Given the description of an element on the screen output the (x, y) to click on. 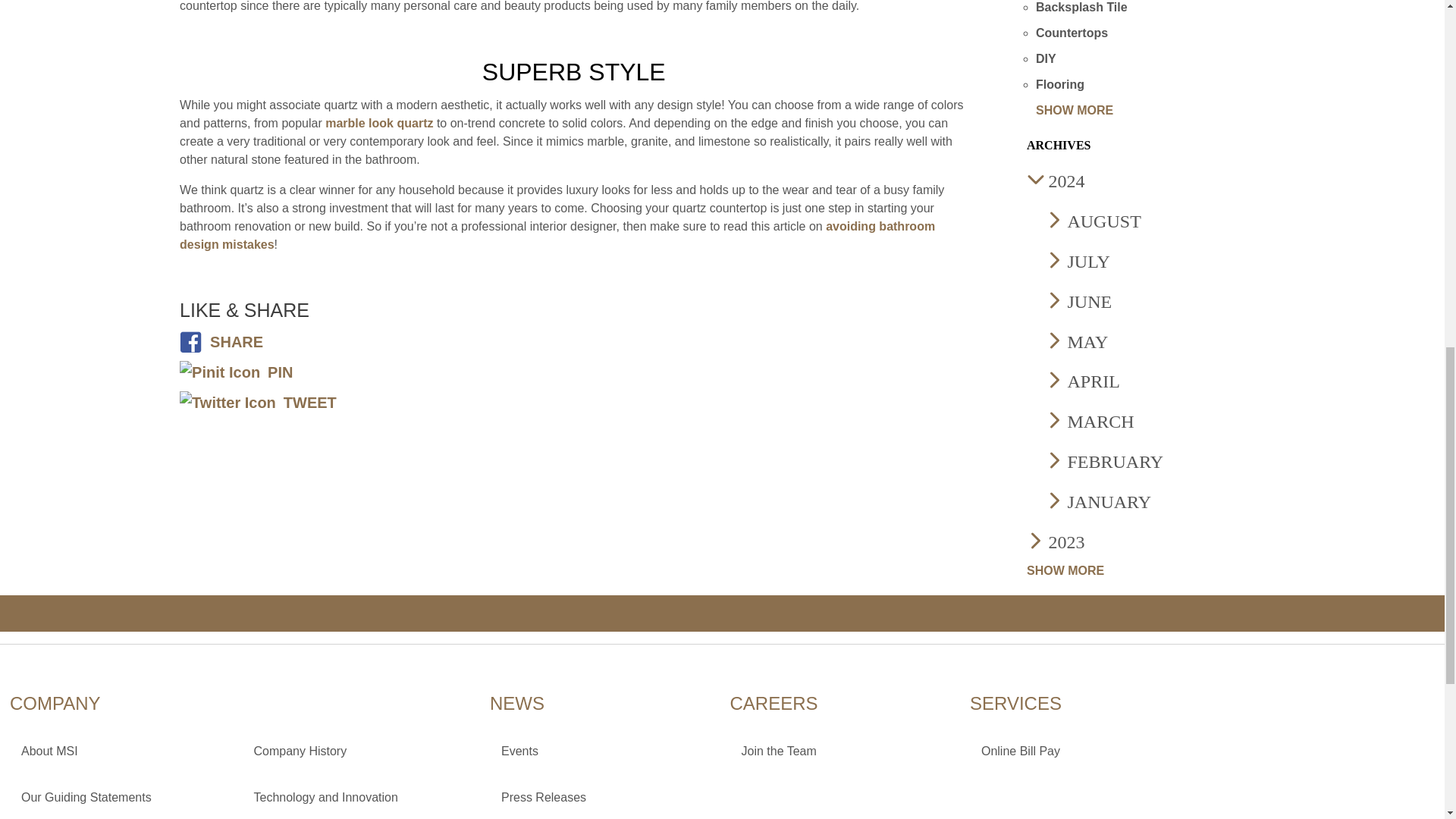
Share on Pinterest (235, 371)
Share on Facebook (221, 341)
Share on Twitter (257, 402)
